Given the description of an element on the screen output the (x, y) to click on. 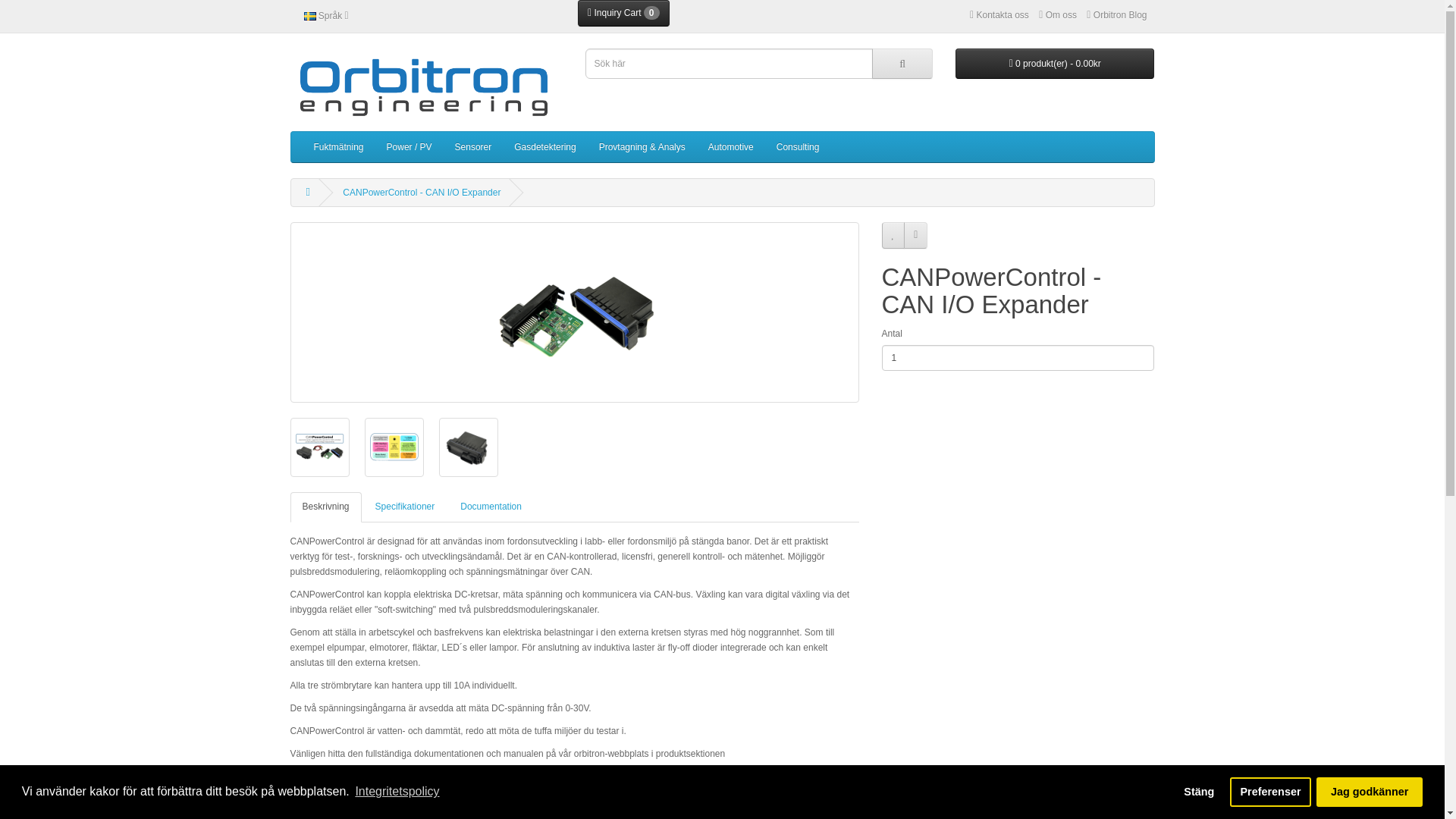
Orbitron engineering AB (425, 85)
Preferenser (1270, 791)
Om oss (1058, 14)
Kontakta oss (999, 14)
1 (1017, 357)
Orbitron Blog (1116, 14)
Svenska (308, 16)
Integritetspolicy (397, 791)
Orbitron Blog (1116, 14)
CANPowerControl komplett kabelsats (389, 814)
Sensorer (473, 146)
Kontakta oss (999, 14)
Om oss (1058, 14)
